Given the description of an element on the screen output the (x, y) to click on. 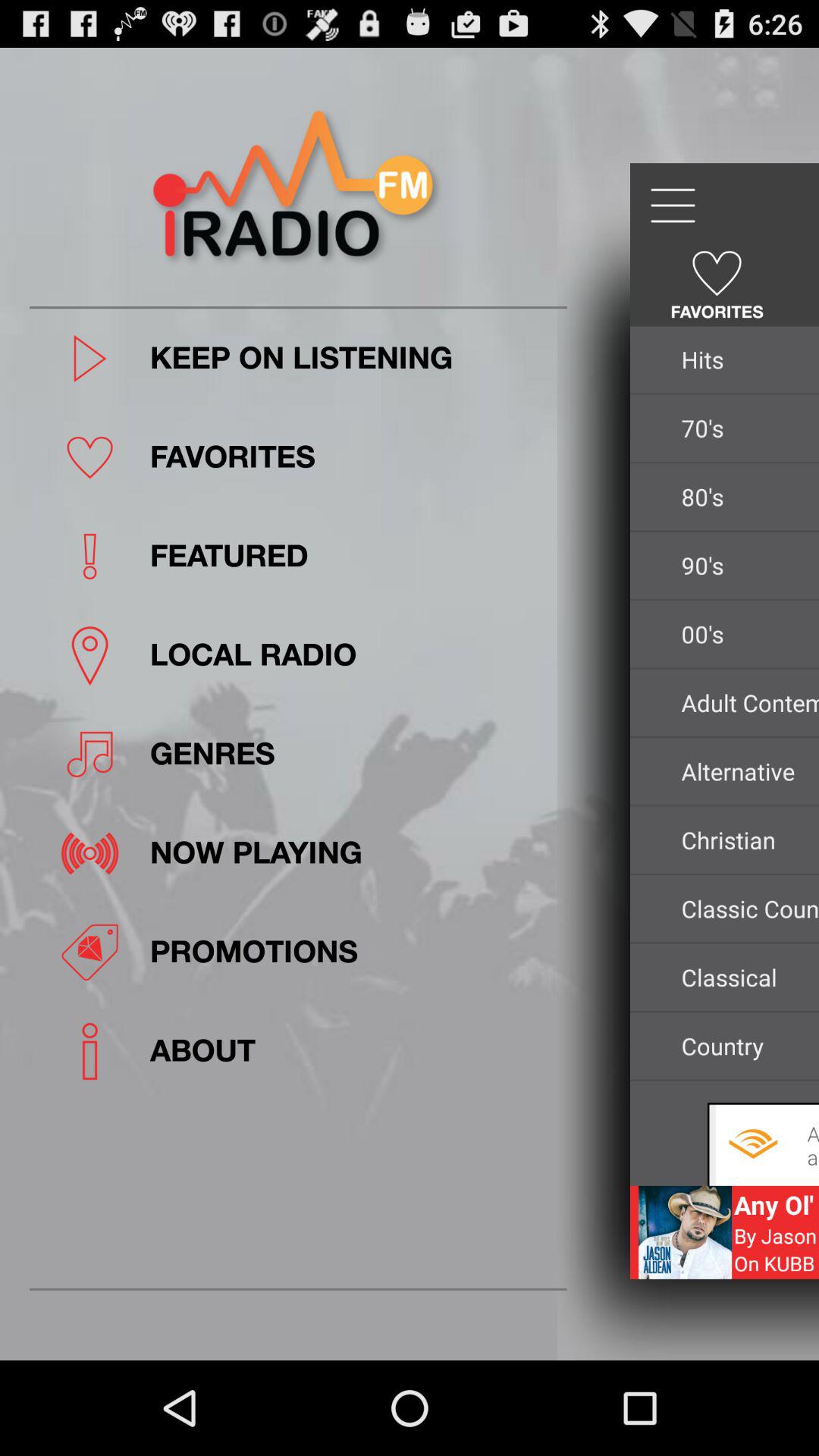
select the featured app (353, 556)
